Given the description of an element on the screen output the (x, y) to click on. 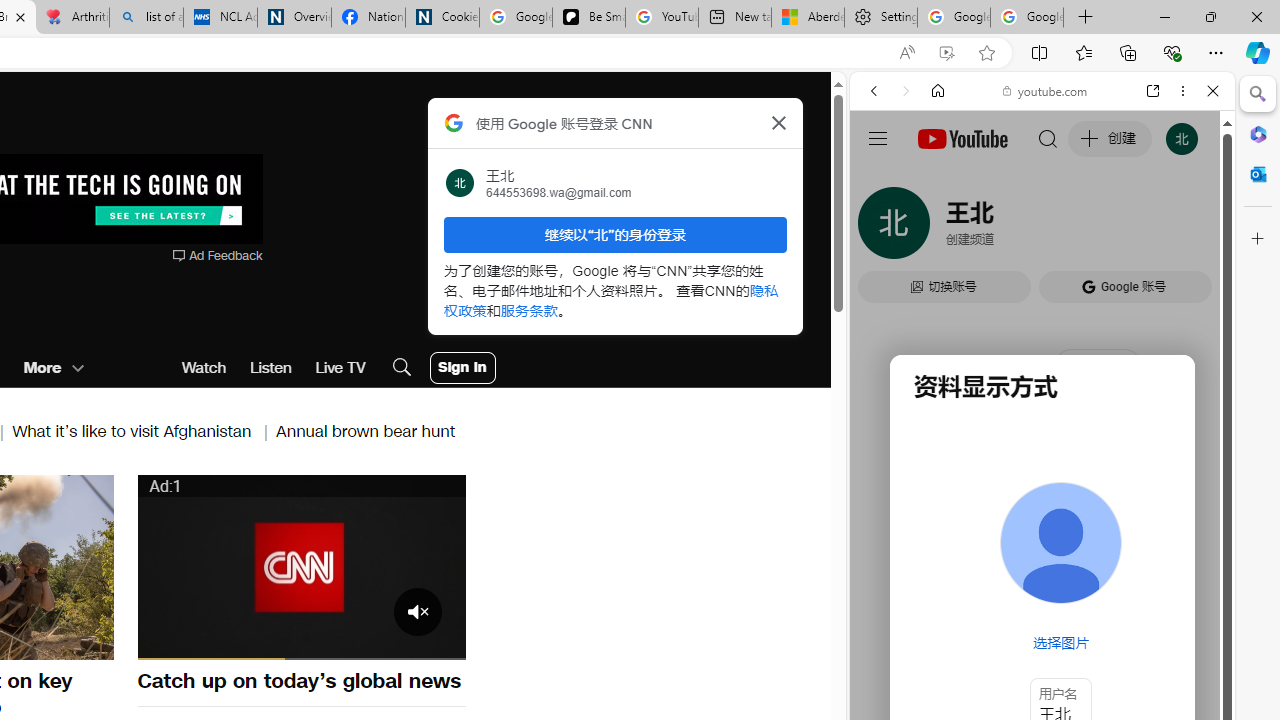
Live TV (340, 367)
Watch (203, 367)
Unmute (208, 642)
